Given the description of an element on the screen output the (x, y) to click on. 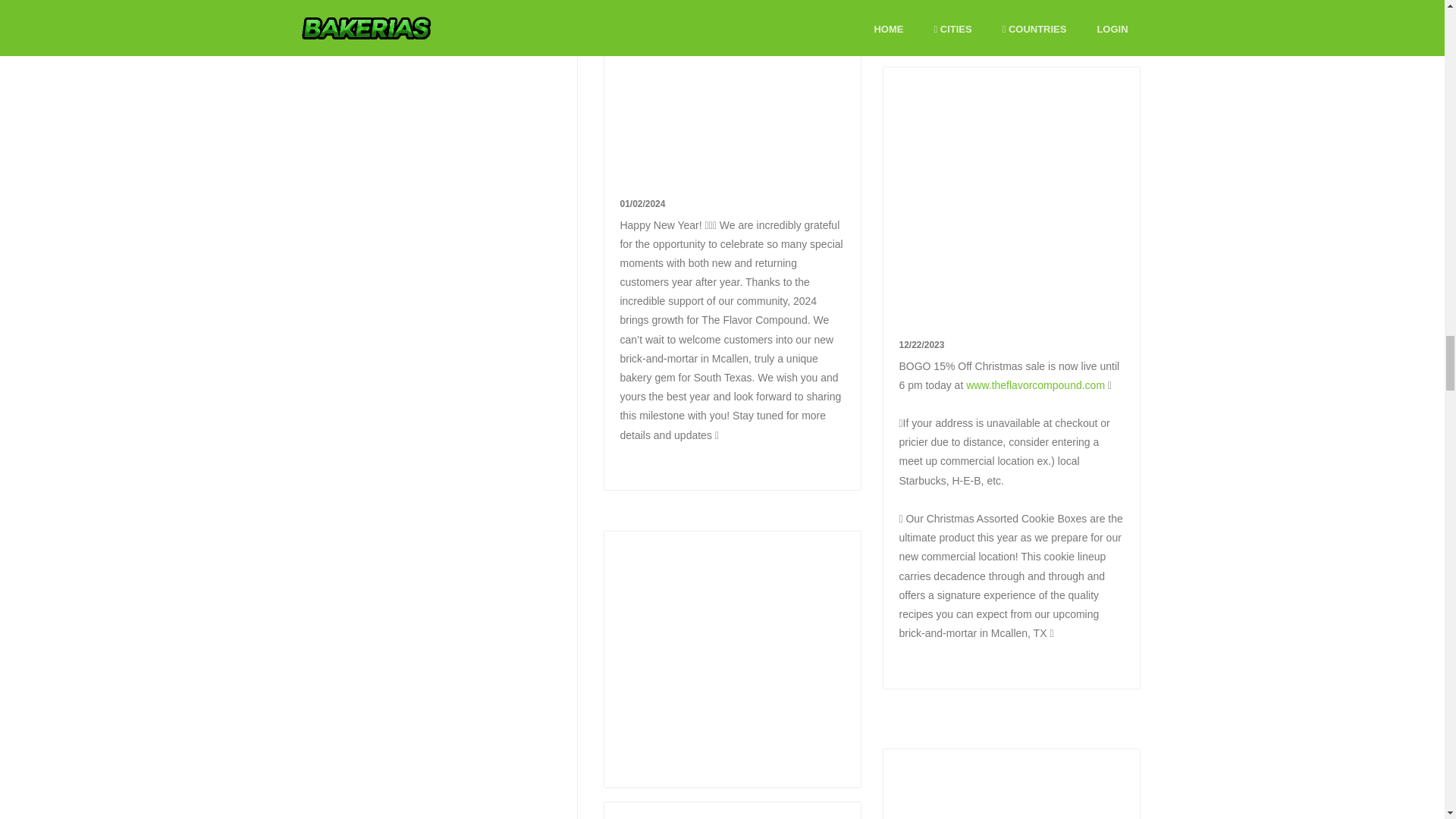
www.theflavorcompound.com (1035, 385)
